Given the description of an element on the screen output the (x, y) to click on. 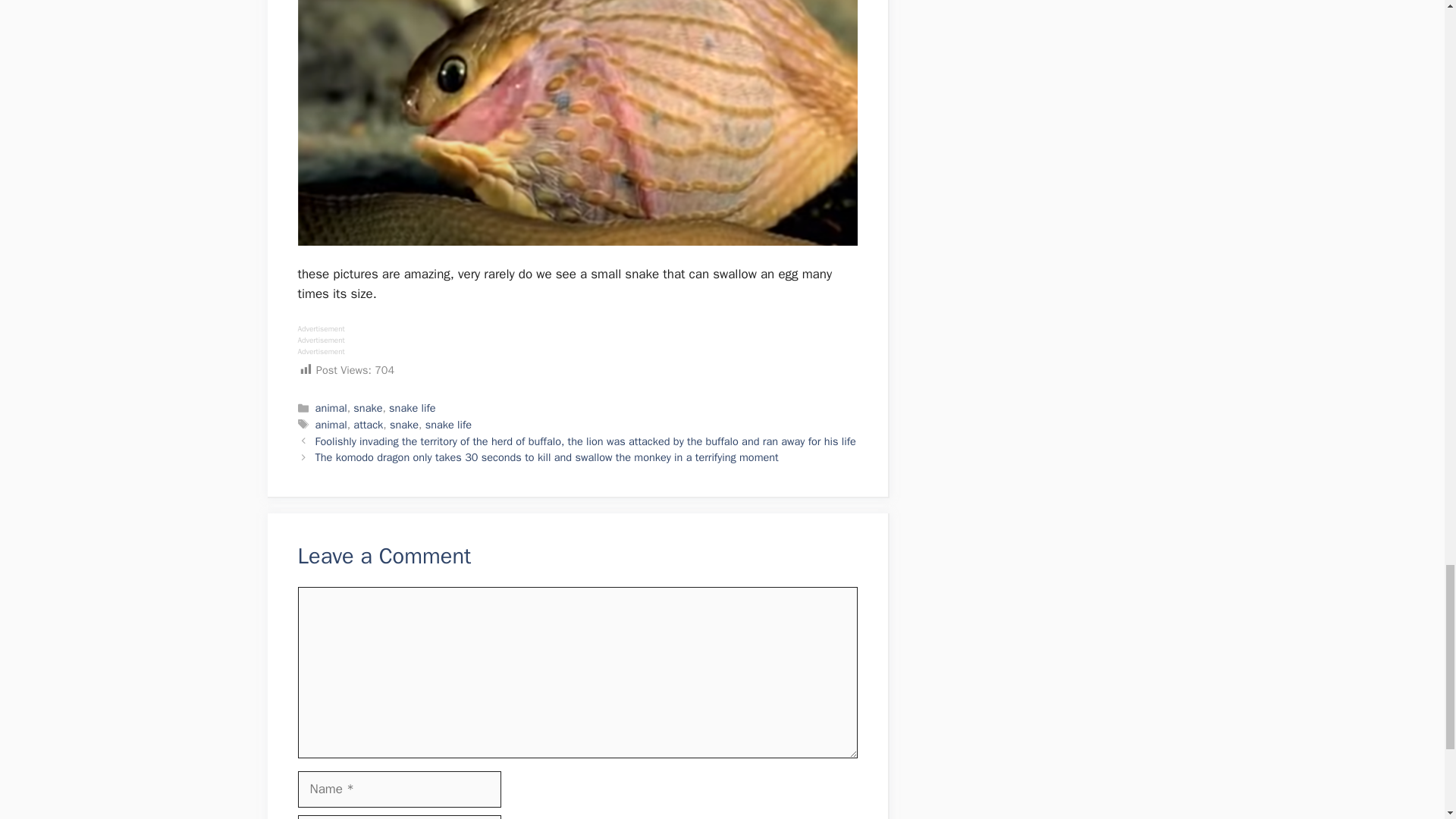
snake (404, 424)
snake life (448, 424)
snake (367, 407)
animal (331, 407)
attack (367, 424)
animal (331, 424)
snake life (411, 407)
